Given the description of an element on the screen output the (x, y) to click on. 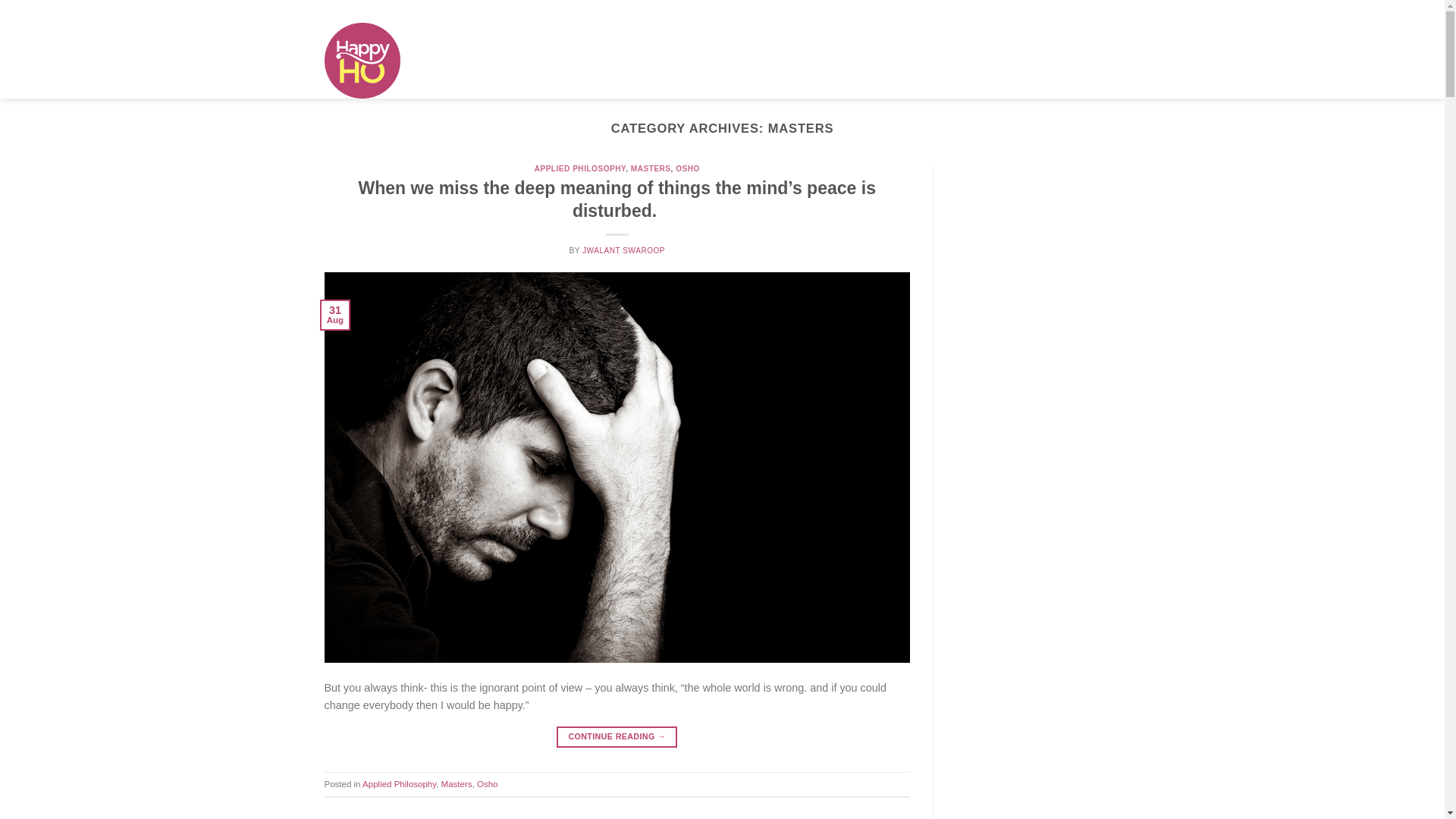
CORPORATE SOLUTIONS (653, 41)
Send us an email (1074, 10)
ABOUT (448, 41)
Follow on Facebook (1034, 10)
MASTERS (523, 41)
Follow on Twitter (1061, 10)
Follow on Pinterest (1100, 10)
Advertisement (1051, 435)
Follow on Instagram (1047, 10)
Call us (1087, 10)
Advertisement (1051, 773)
Contact Us (707, 11)
HappyHO Consultants (783, 11)
Follow on LinkedIn (1113, 10)
